Given the description of an element on the screen output the (x, y) to click on. 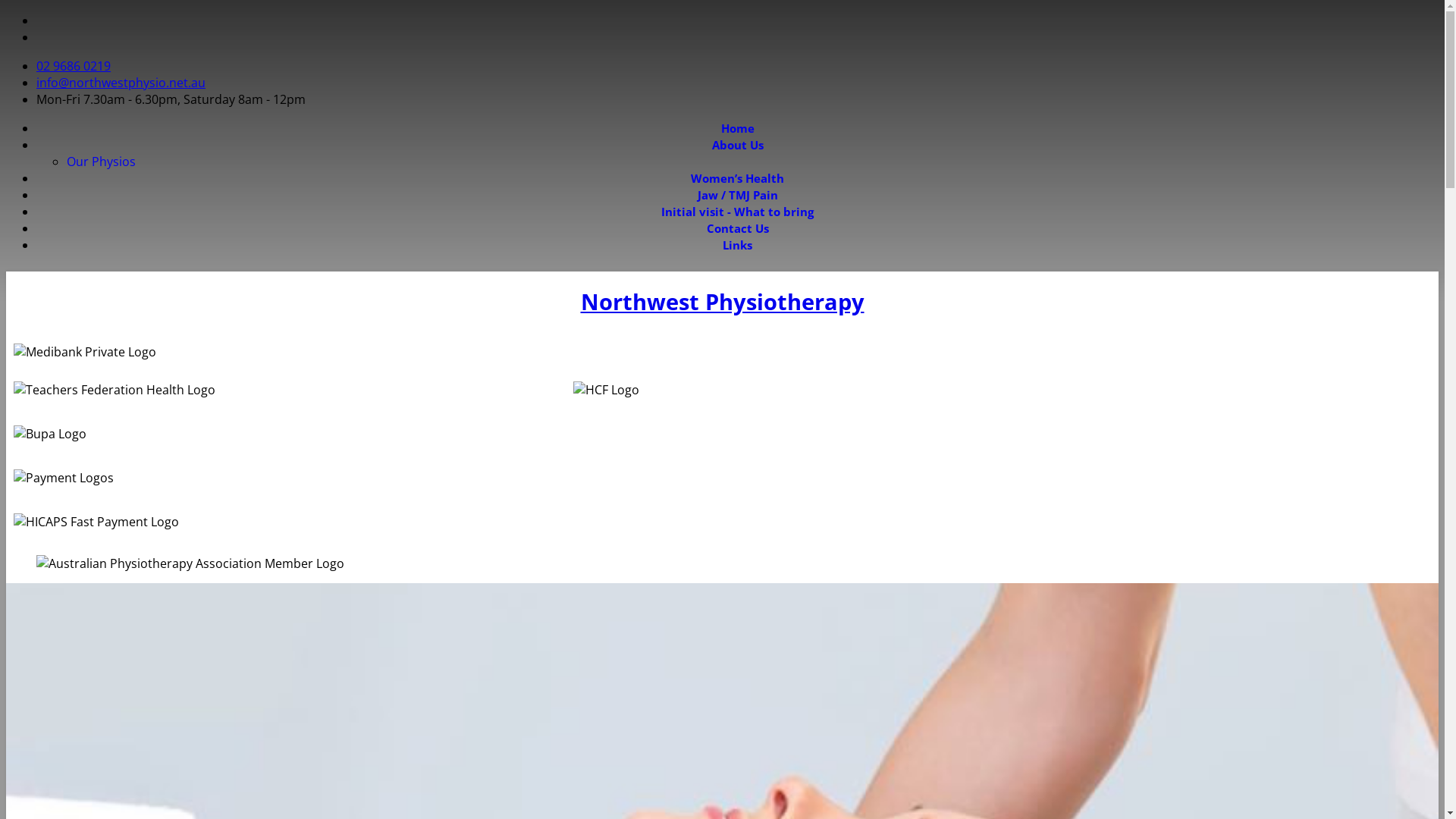
02 9686 0219 Element type: text (73, 65)
Our Physios Element type: text (100, 161)
Initial visit - What to bring Element type: text (737, 211)
info@northwestphysio.net.au Element type: text (120, 82)
Contact Us Element type: text (737, 227)
Links Element type: text (737, 244)
Northwest Physiotherapy Element type: text (722, 301)
Jaw / TMJ Pain Element type: text (737, 194)
About Us Element type: text (736, 144)
Home Element type: text (736, 127)
